Given the description of an element on the screen output the (x, y) to click on. 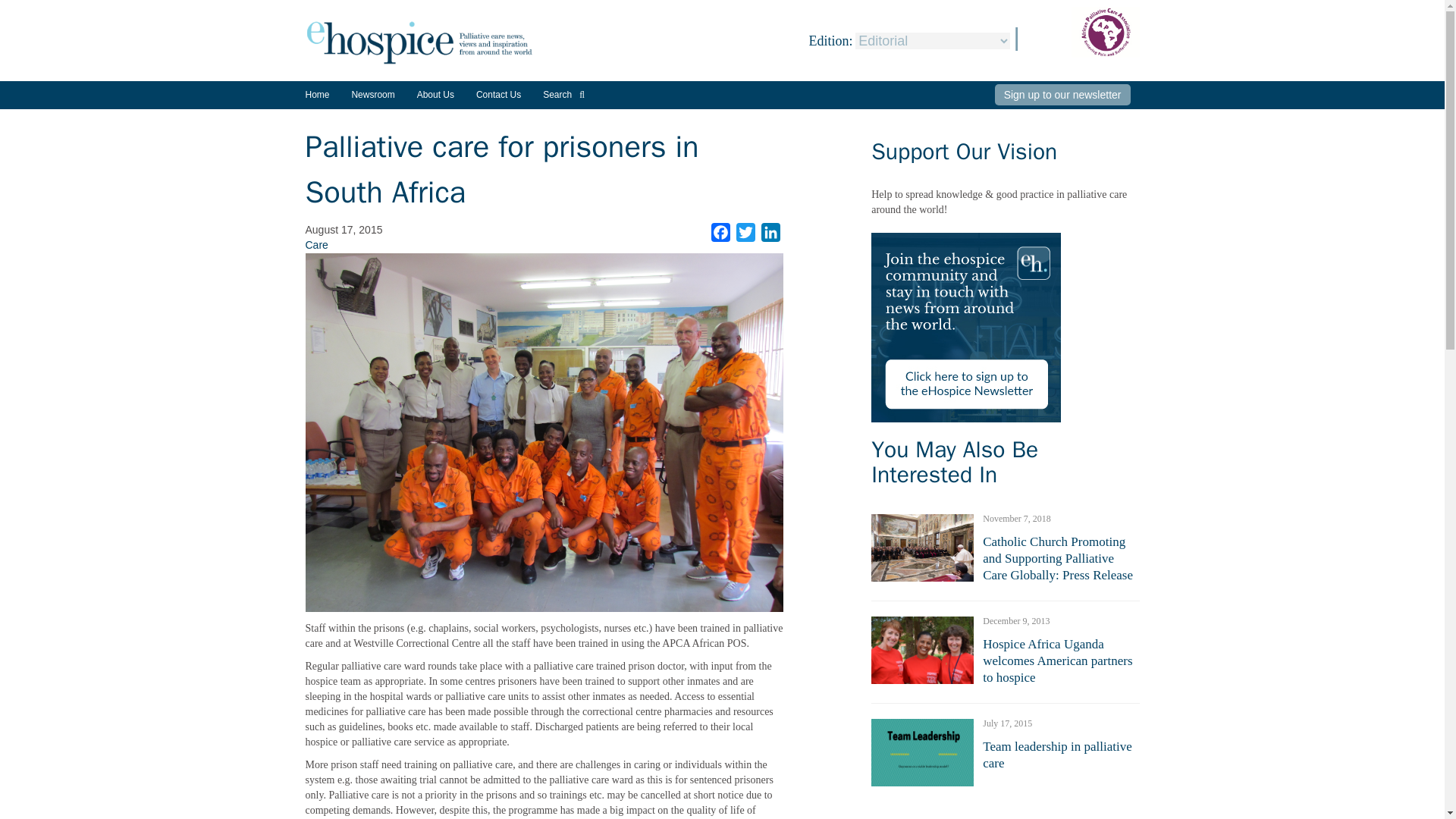
Twitter (745, 231)
Newsroom (372, 100)
Facebook (720, 231)
Search (564, 94)
About Us (435, 94)
LinkedIn (770, 231)
Sign up to our newsletter (1062, 94)
Home (316, 94)
Contact Us (498, 94)
